Given the description of an element on the screen output the (x, y) to click on. 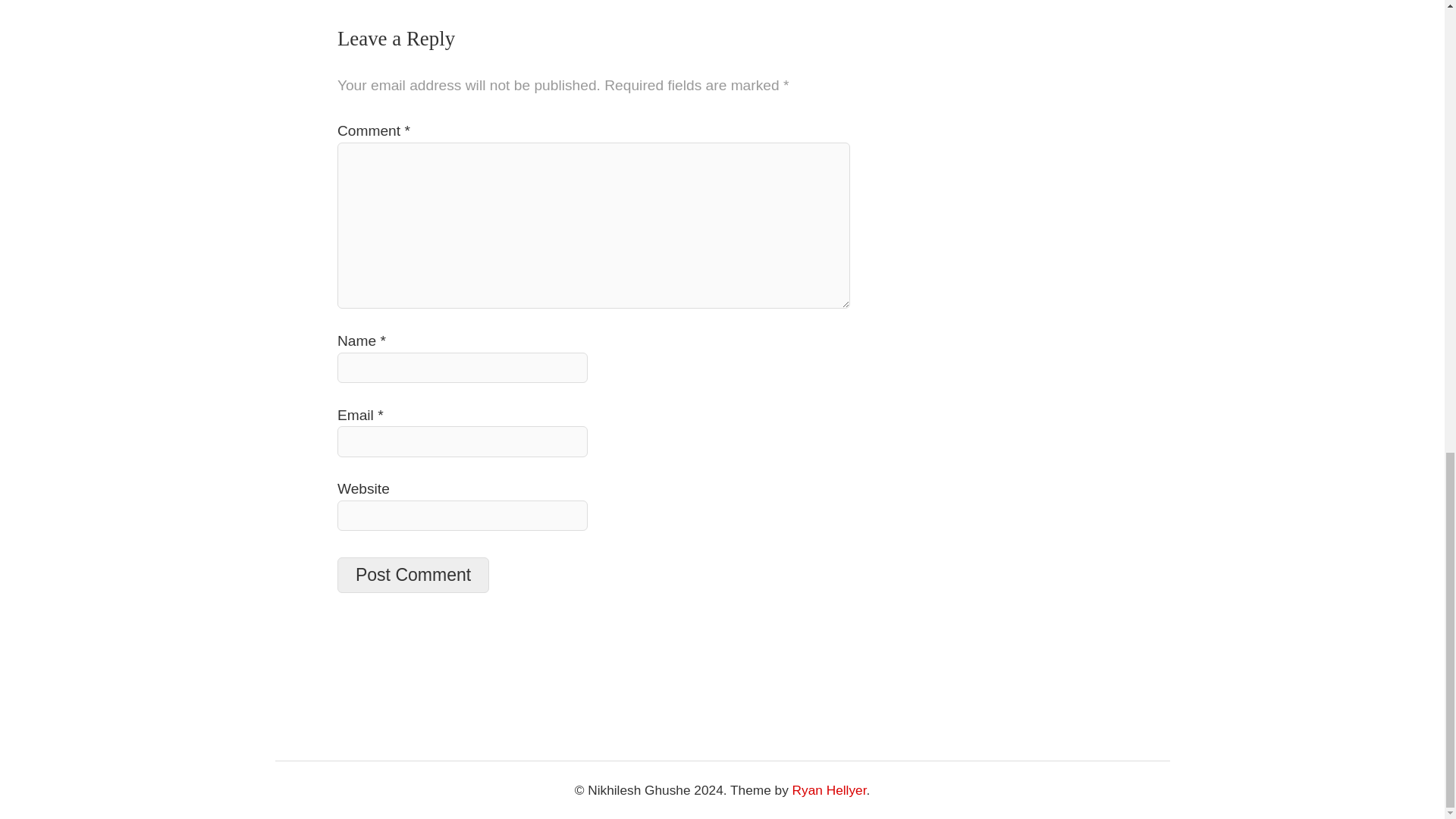
Post Comment (413, 574)
Ryan Hellyer (829, 789)
Post Comment (413, 574)
